Given the description of an element on the screen output the (x, y) to click on. 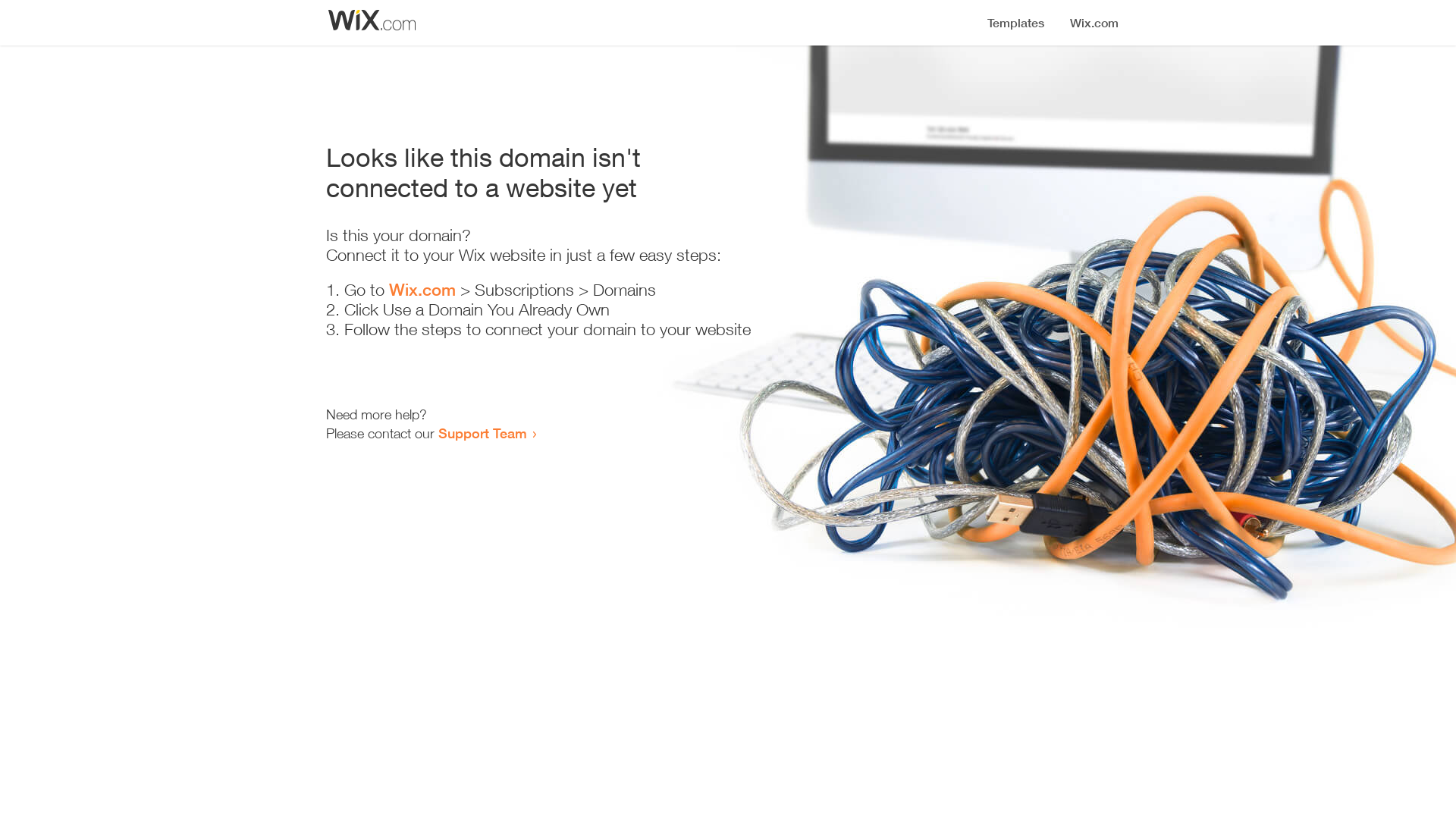
Wix.com Element type: text (422, 289)
Support Team Element type: text (482, 432)
